Given the description of an element on the screen output the (x, y) to click on. 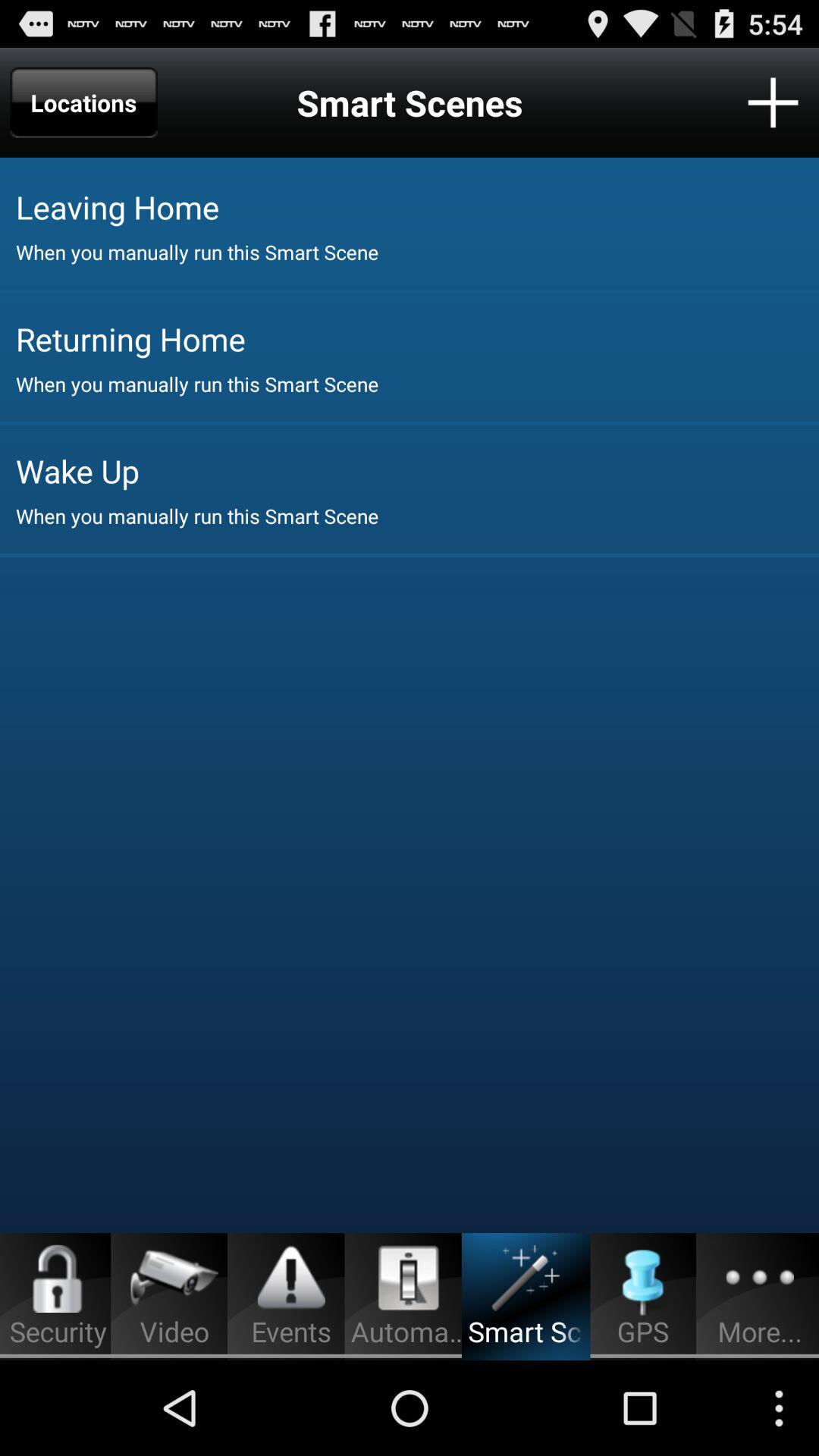
add scene (773, 102)
